Given the description of an element on the screen output the (x, y) to click on. 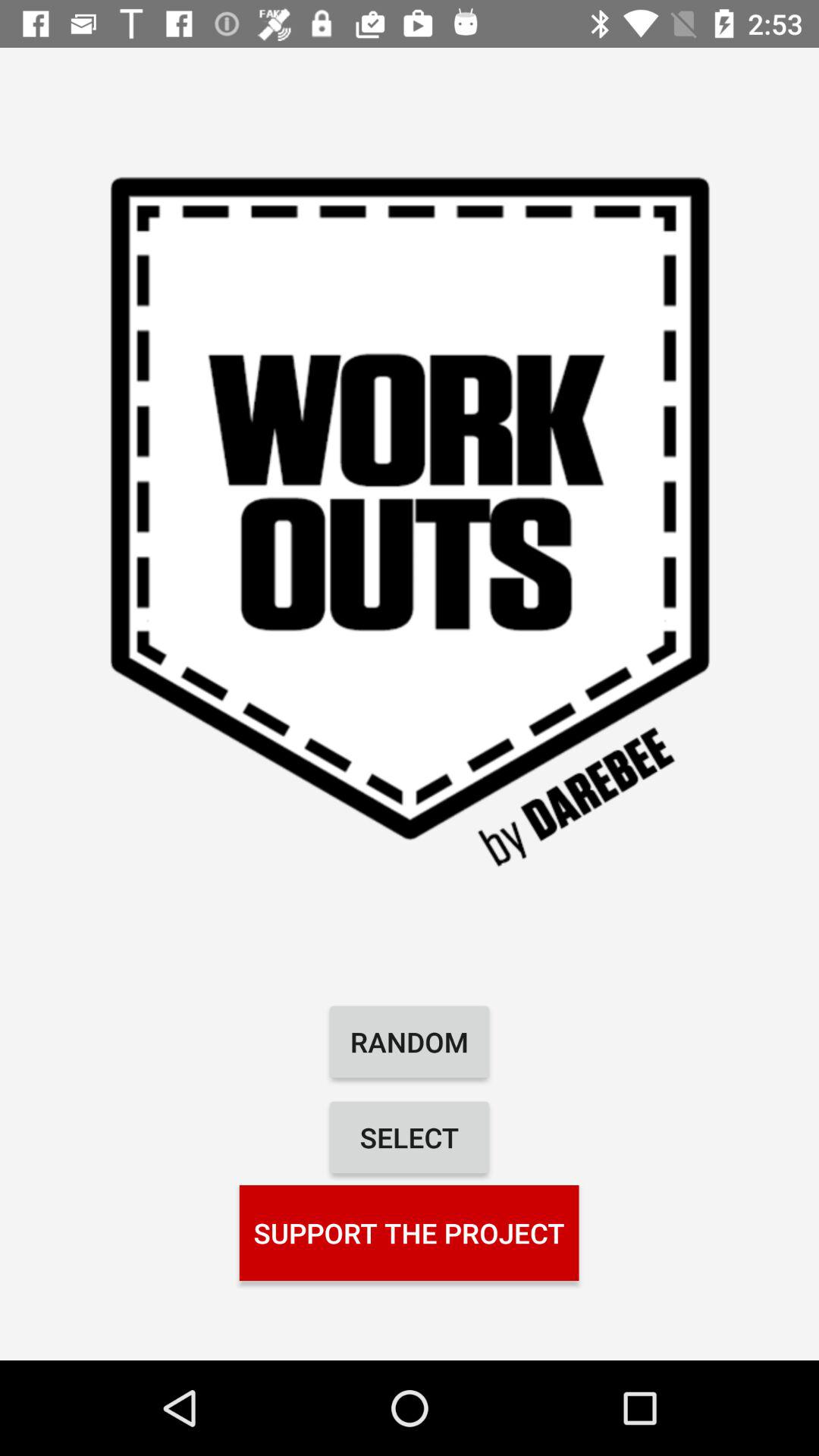
open the select item (409, 1137)
